Given the description of an element on the screen output the (x, y) to click on. 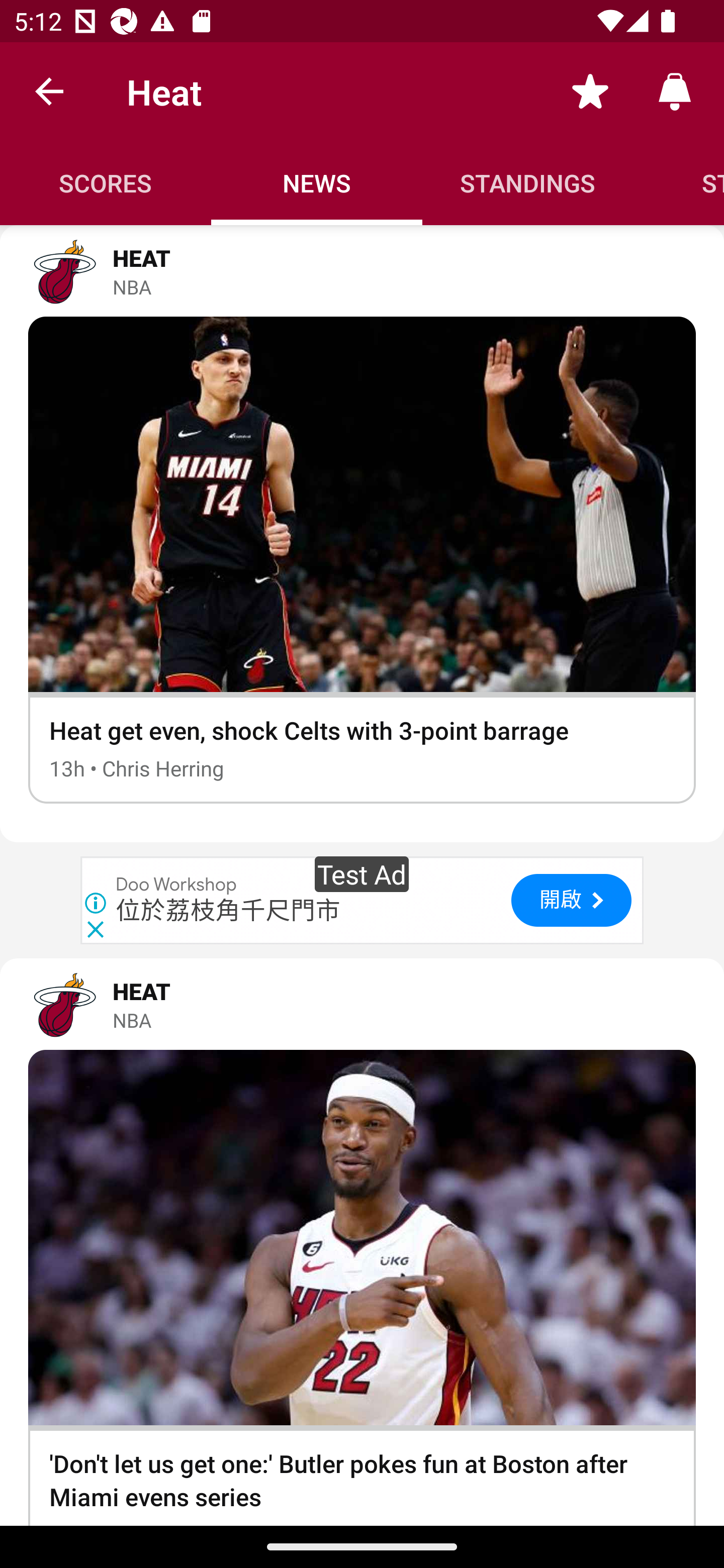
back.button (49, 90)
Favorite toggle (590, 90)
Alerts (674, 90)
Scores SCORES (105, 183)
Standings STANDINGS (527, 183)
HEAT NBA (362, 270)
Doo Workshop (176, 884)
開啟 (570, 899)
位於荔枝角千尺門市 (228, 910)
HEAT NBA (362, 1004)
